Given the description of an element on the screen output the (x, y) to click on. 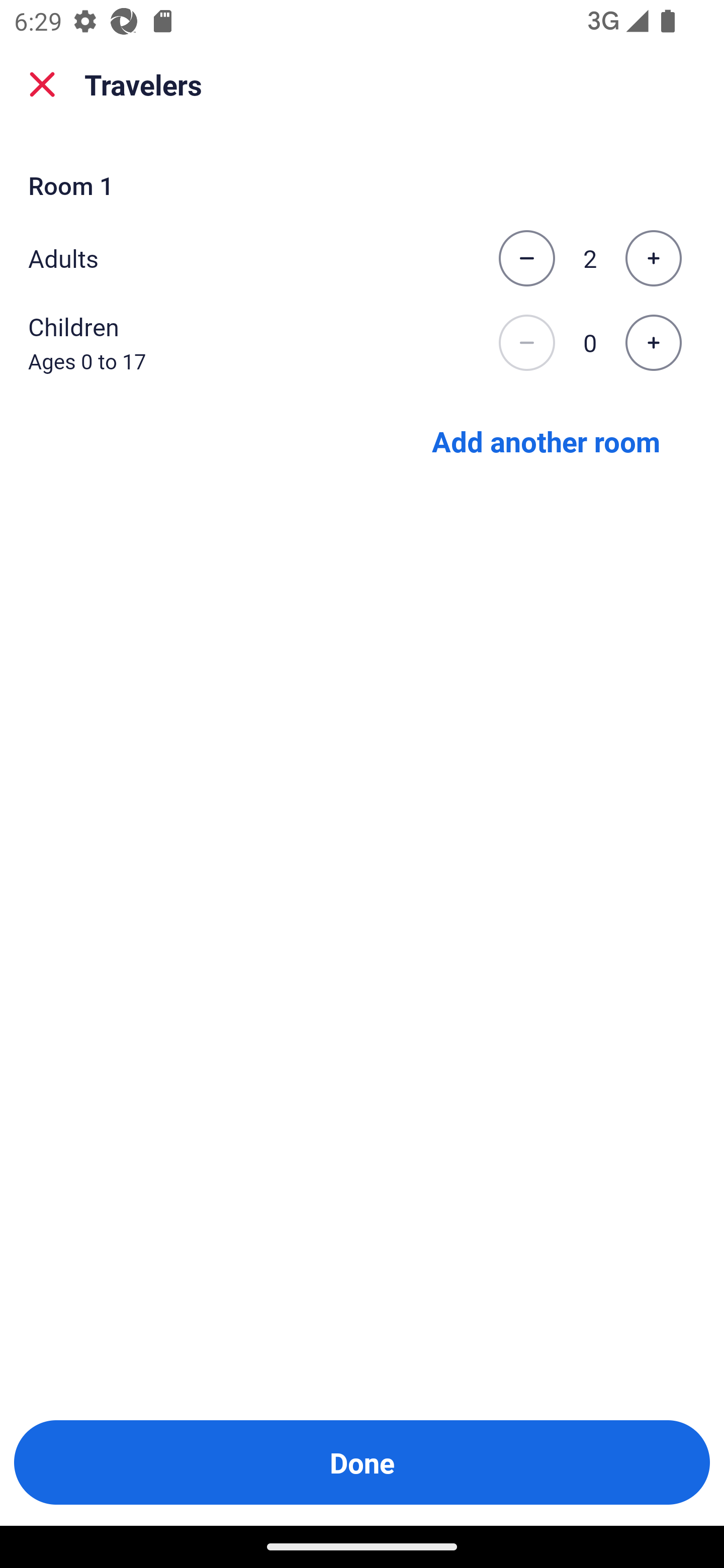
close (42, 84)
Decrease the number of adults (526, 258)
Increase the number of adults (653, 258)
Decrease the number of children (526, 343)
Increase the number of children (653, 343)
Add another room (545, 440)
Done (361, 1462)
